Given the description of an element on the screen output the (x, y) to click on. 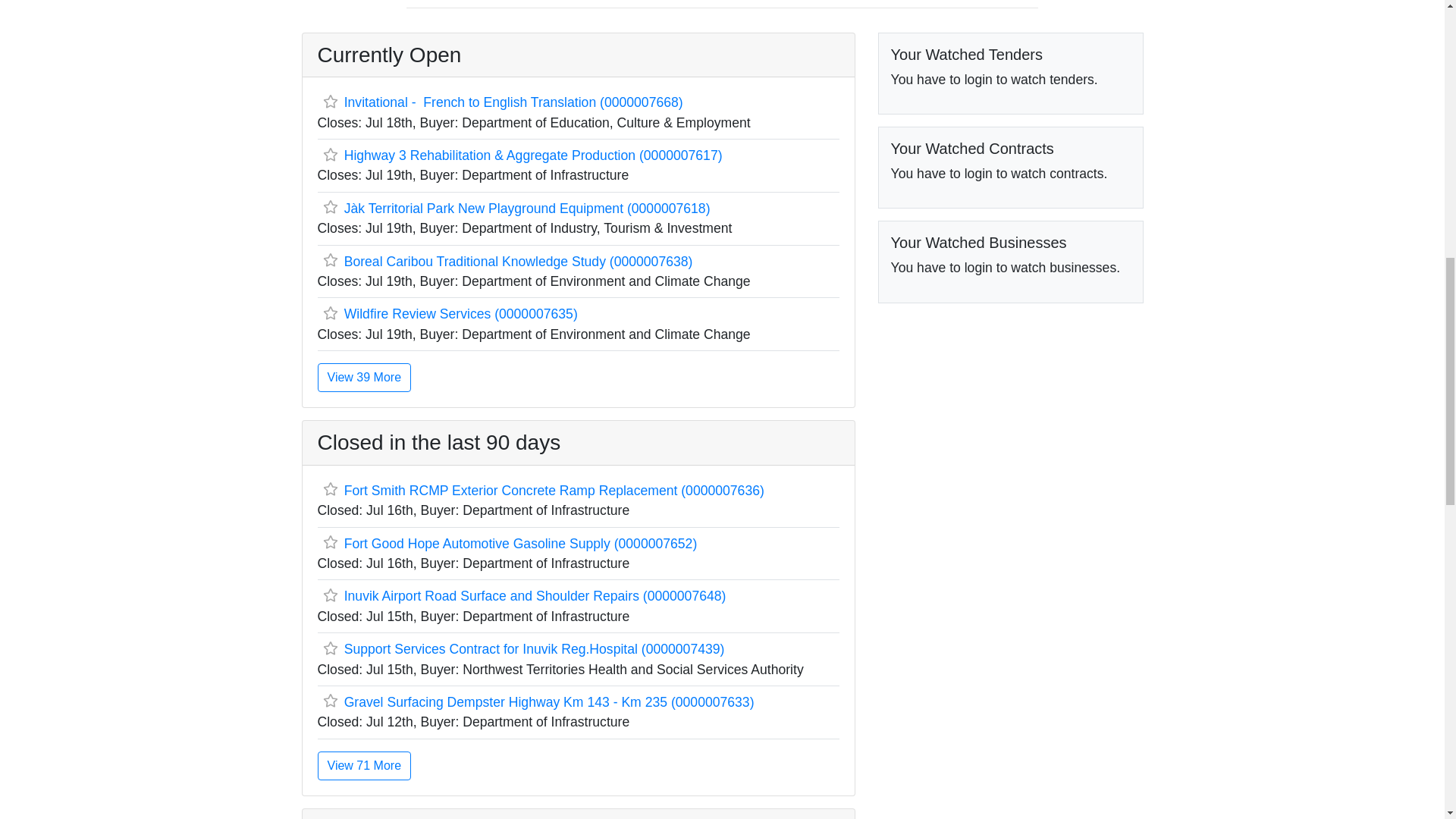
View 39 More (363, 377)
